Given the description of an element on the screen output the (x, y) to click on. 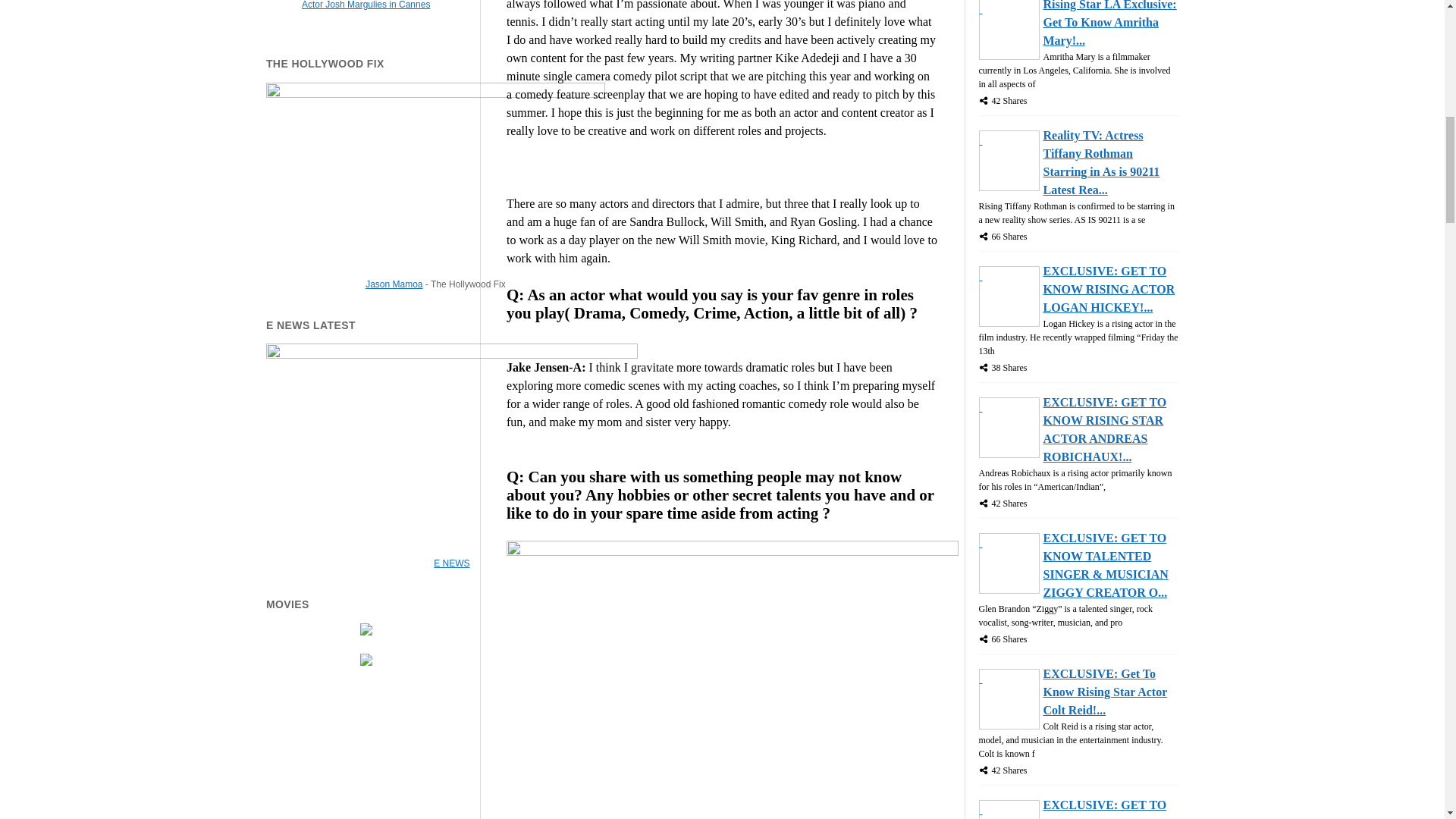
Jason Mamoa (393, 284)
Actor Josh Margulies in Cannes (365, 4)
E NEWS (450, 562)
